Given the description of an element on the screen output the (x, y) to click on. 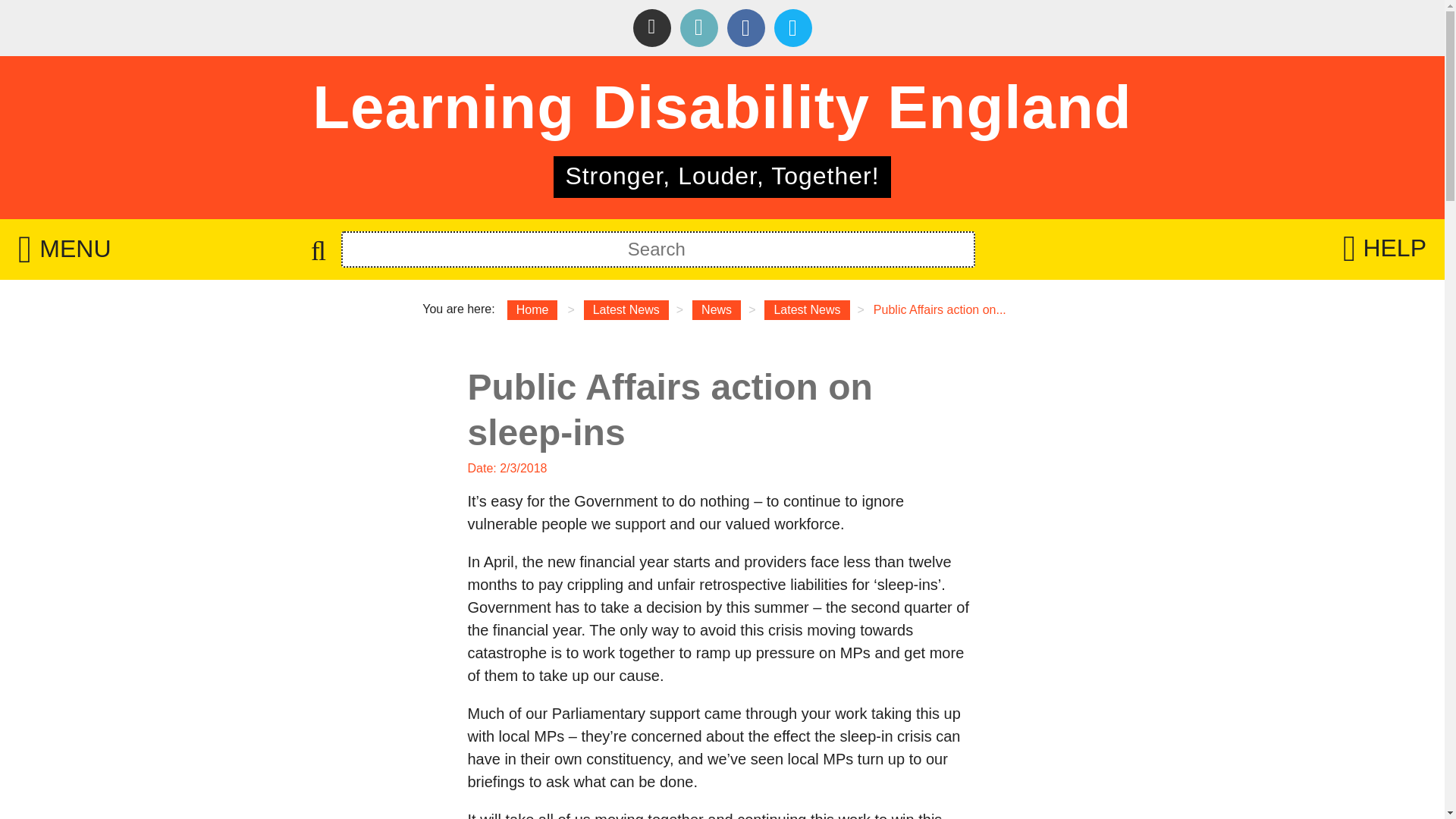
Latest News (806, 310)
Home (531, 310)
News (717, 310)
Category Name (717, 310)
Latest News (625, 310)
twitter (791, 27)
MENU (63, 249)
Public Affairs action on sleep-ins (625, 310)
contact (698, 27)
Latest News (806, 310)
